Given the description of an element on the screen output the (x, y) to click on. 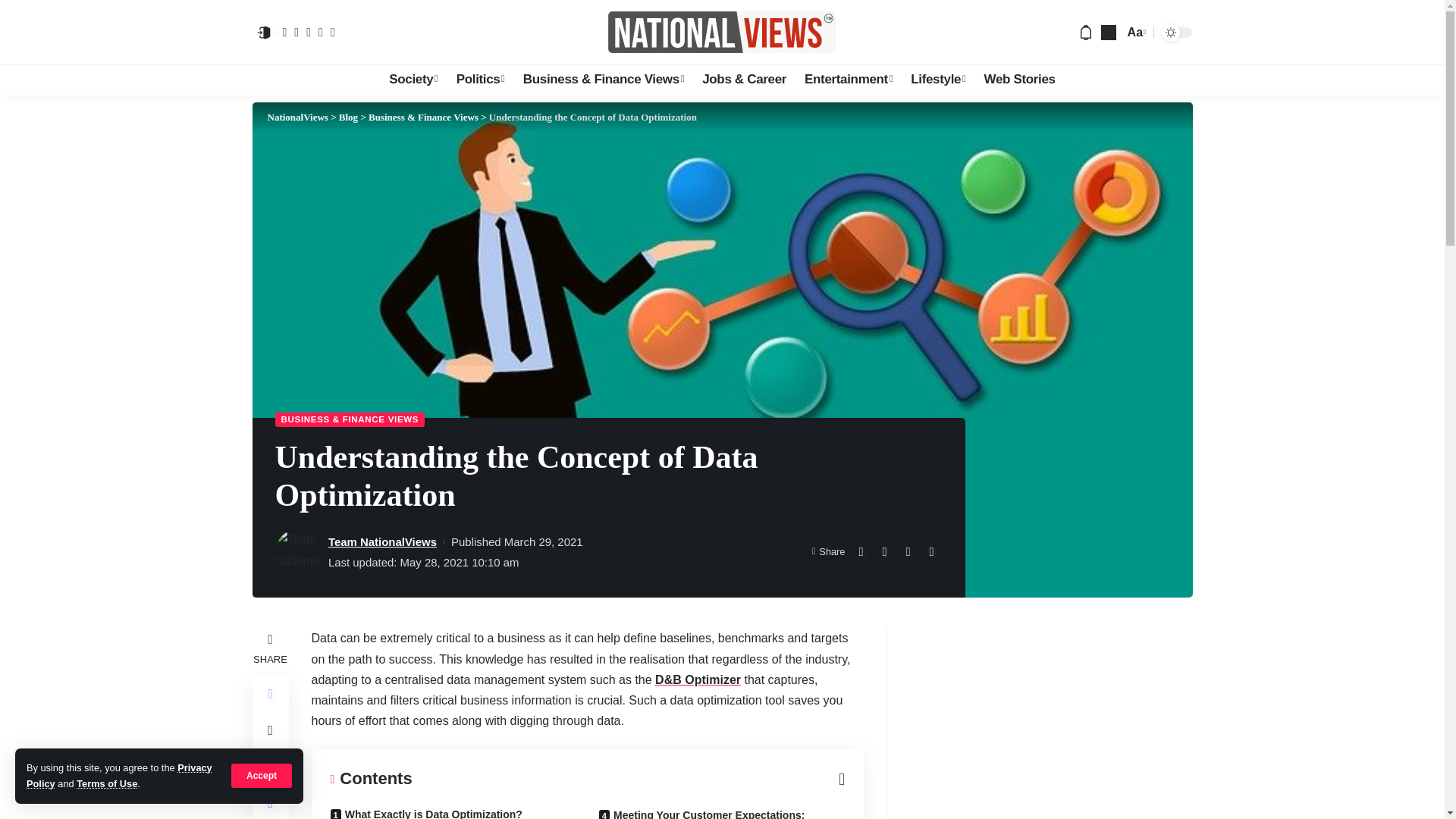
Go to NationalViews. (296, 116)
Privacy Policy (119, 775)
Aa (1135, 32)
Society (413, 79)
Accept (261, 775)
Terms of Use (106, 783)
Entertainment (847, 79)
Politics (479, 79)
Go to Blog. (348, 116)
Lifestyle (937, 79)
NationalViews (721, 32)
